Given the description of an element on the screen output the (x, y) to click on. 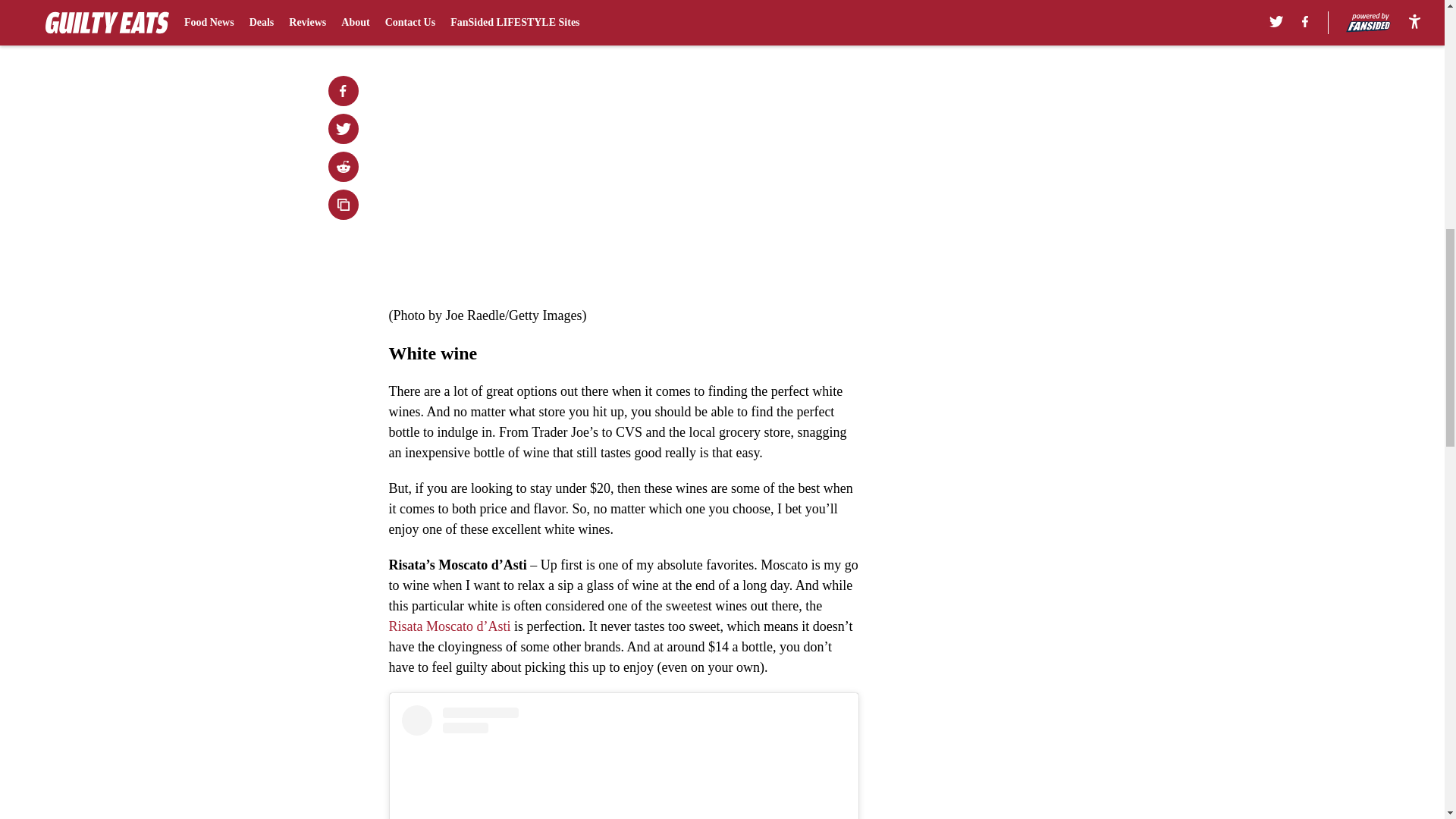
Next (813, 5)
Prev (433, 5)
View this post on Instagram (623, 762)
